Given the description of an element on the screen output the (x, y) to click on. 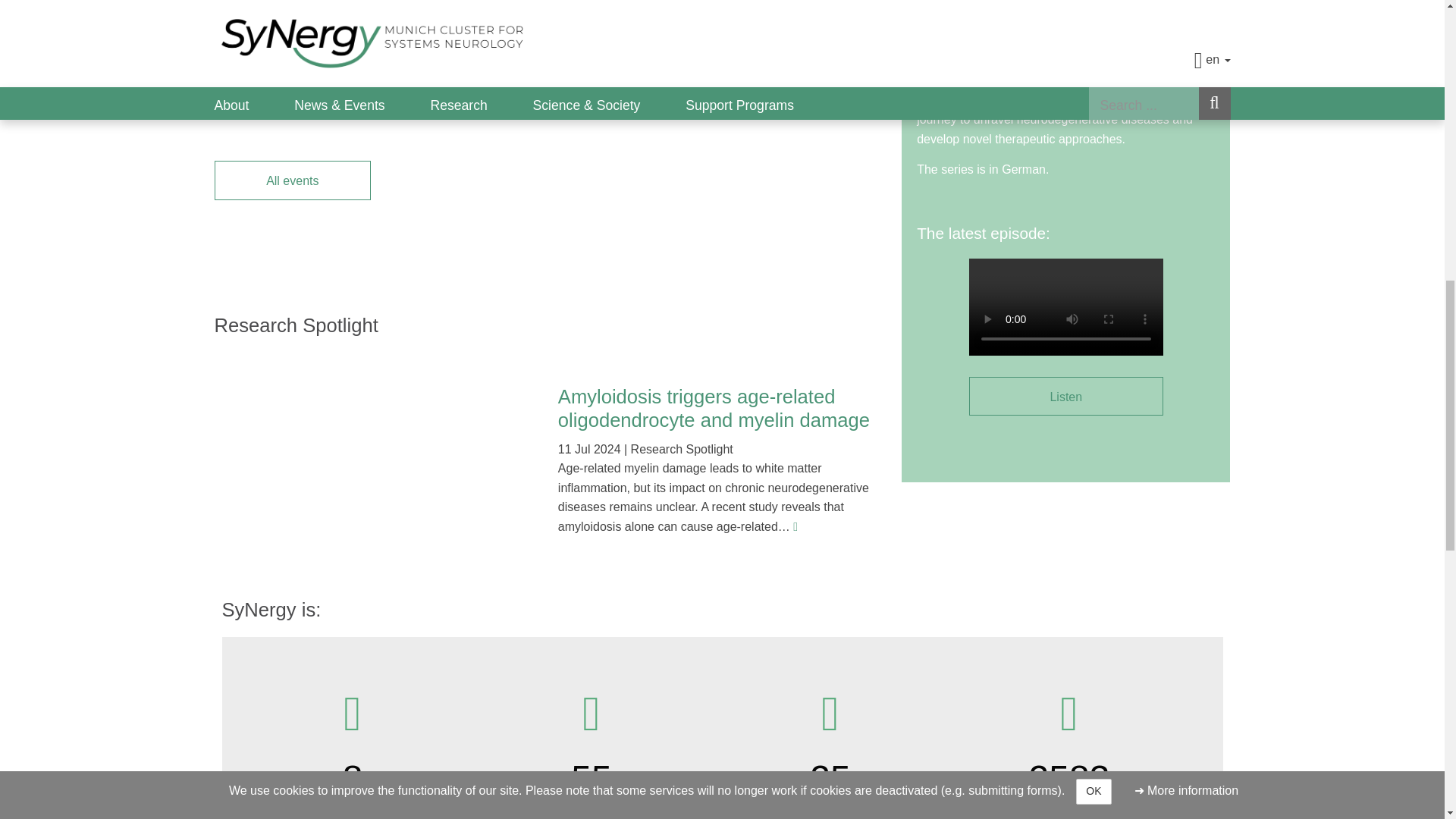
building (352, 714)
clone (829, 714)
users (590, 714)
file (1068, 714)
